Given the description of an element on the screen output the (x, y) to click on. 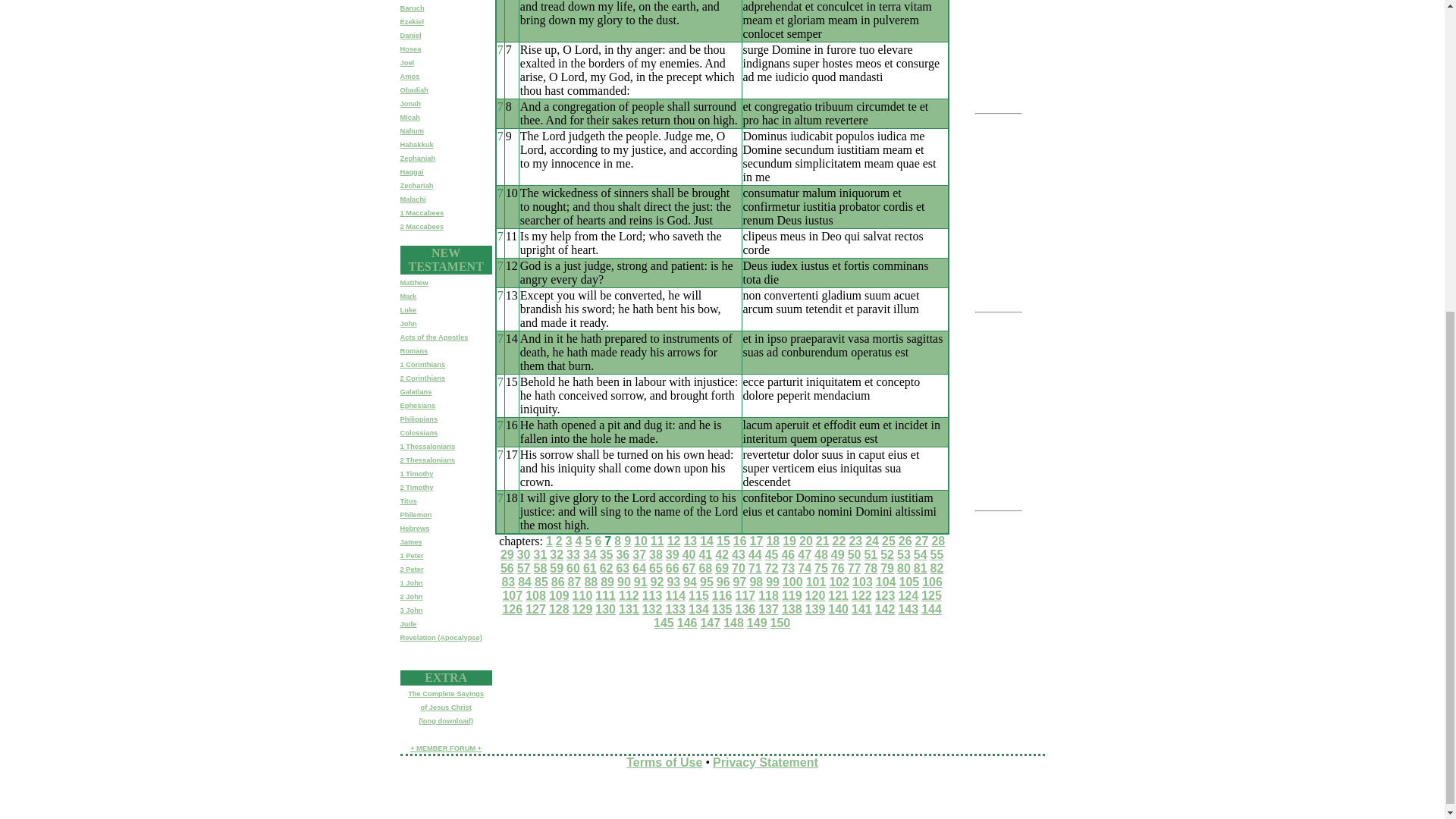
Jonah (410, 103)
Ezekiel (412, 21)
Obadiah (414, 90)
Baruch (412, 8)
Daniel (411, 35)
Nahum (412, 131)
Amos (410, 76)
Joel (407, 62)
Micah (410, 117)
Hosea (411, 49)
